Given the description of an element on the screen output the (x, y) to click on. 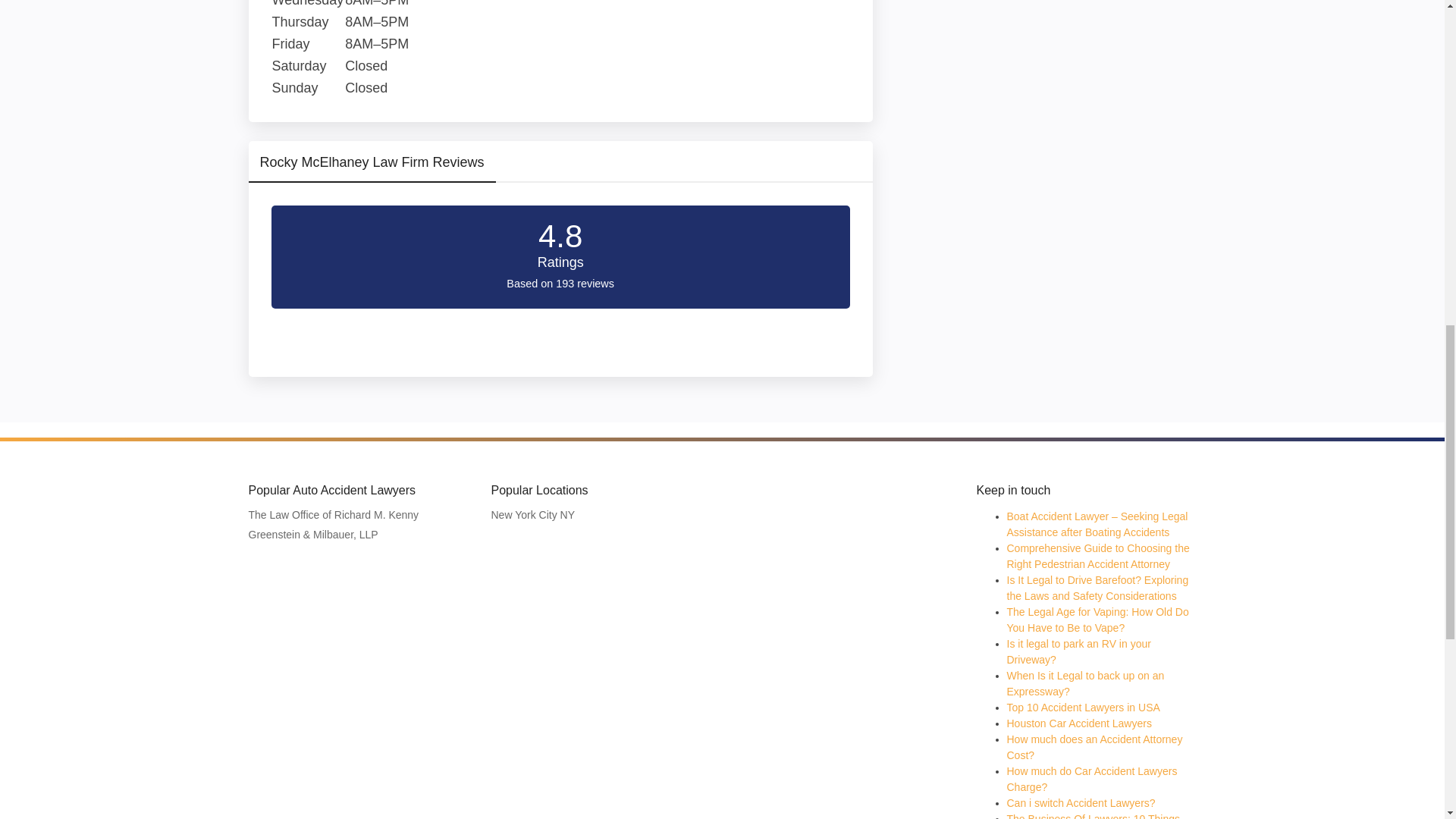
How much does an Accident Attorney Cost? (1094, 747)
How much do Car Accident Lawyers Charge? (1092, 778)
The Legal Age for Vaping: How Old Do You Have to Be to Vape? (1098, 619)
When Is it Legal to back up on an Expressway? (1085, 683)
The Law Office of Richard M. Kenny (338, 515)
Houston Car Accident Lawyers (1079, 723)
Top 10 Accident Lawyers in USA (1083, 707)
The Business Of Lawyers: 10 Things You Must Know (1093, 816)
Can i switch Accident Lawyers? (1081, 802)
Rocky McElhaney Law Firm Reviews (372, 167)
Is it legal to park an RV in your Driveway? (1079, 651)
New York City NY (537, 515)
